Given the description of an element on the screen output the (x, y) to click on. 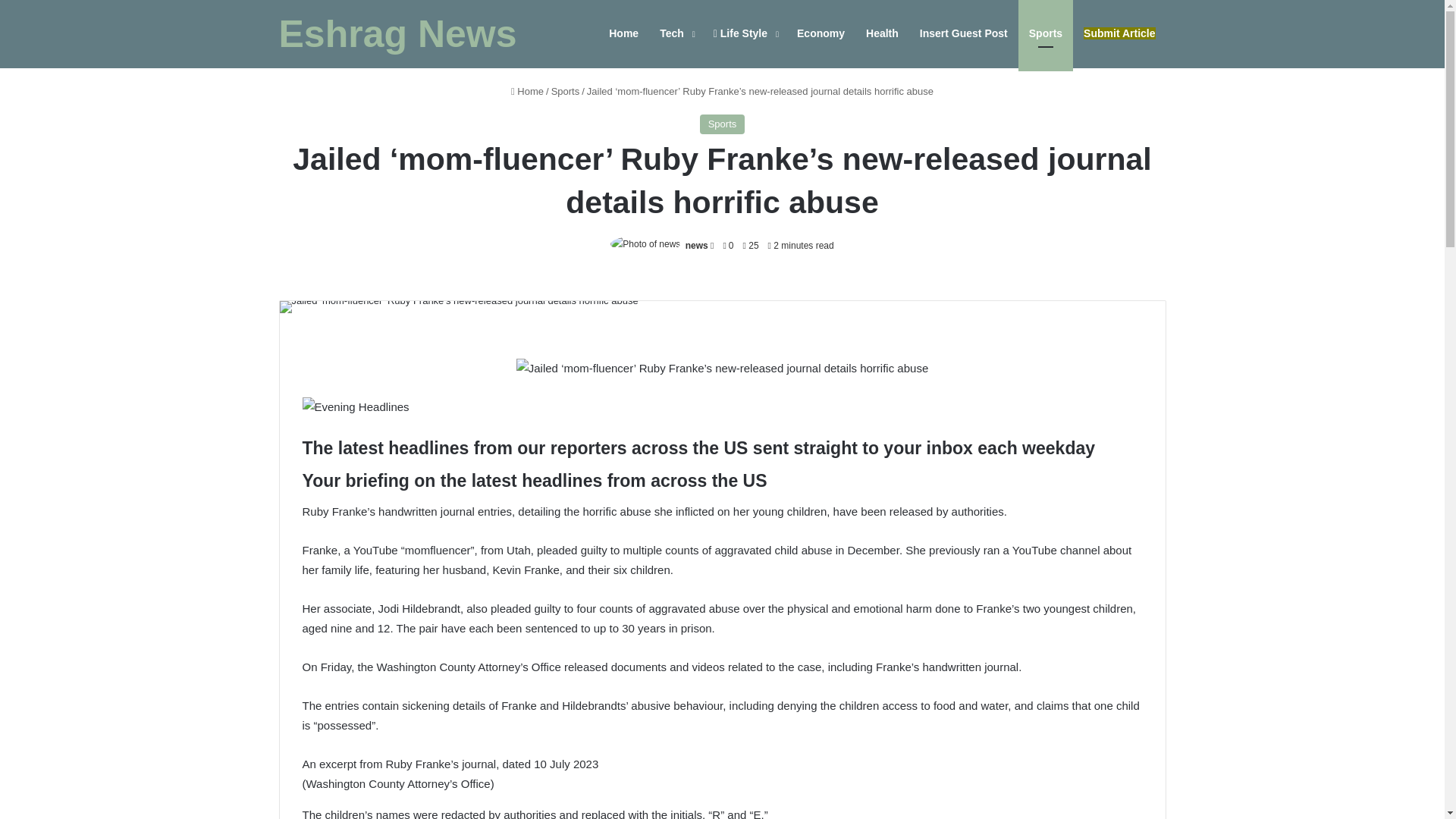
Submit Article (1119, 33)
Life Style (744, 33)
Sports (565, 91)
Home (527, 91)
news (696, 245)
Eshrag News (397, 34)
Insert Guest Post (962, 33)
Sports (722, 124)
Economy (821, 33)
Eshrag News (397, 34)
